Given the description of an element on the screen output the (x, y) to click on. 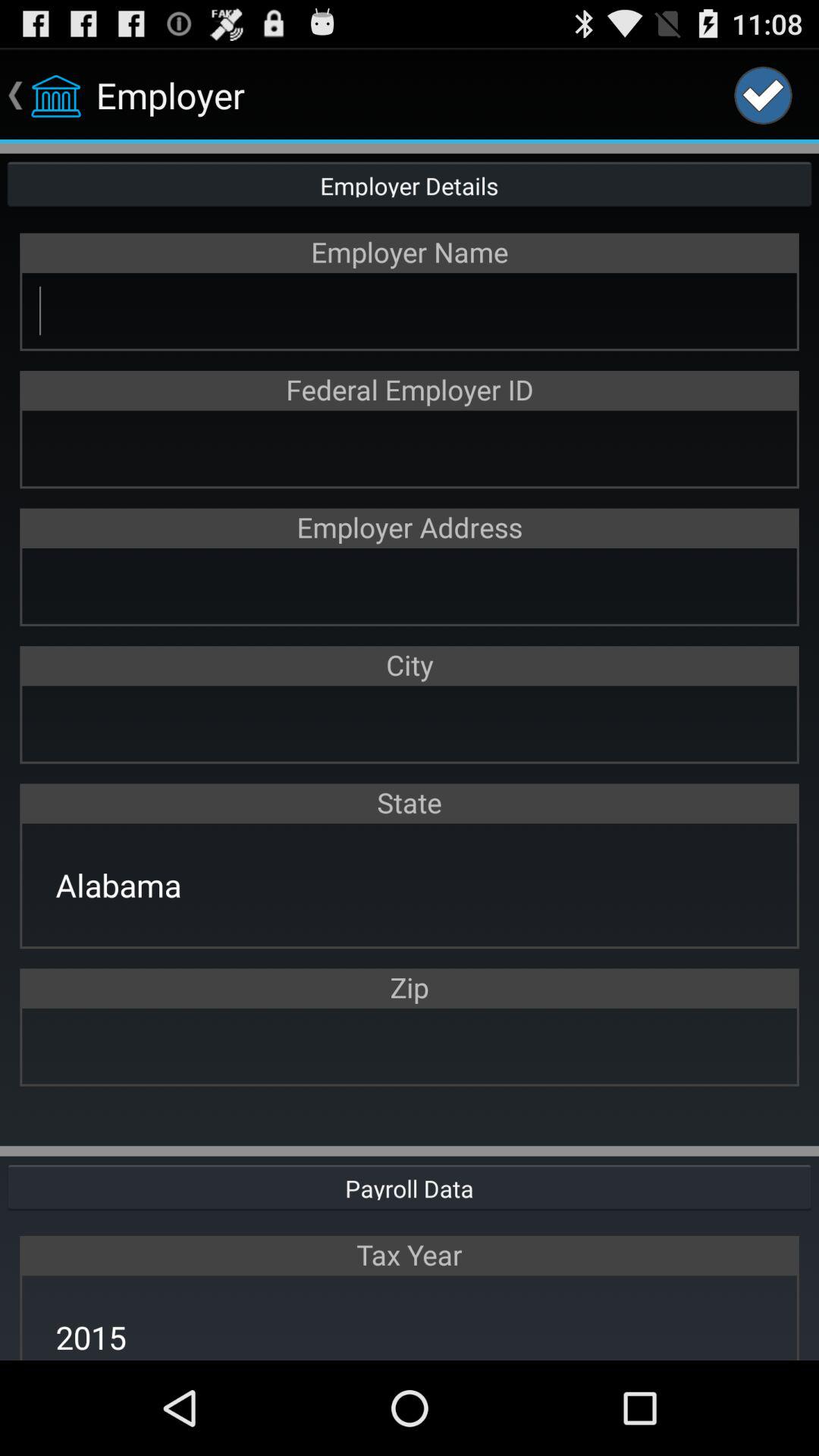
turn off app to the right of the employer item (763, 95)
